Given the description of an element on the screen output the (x, y) to click on. 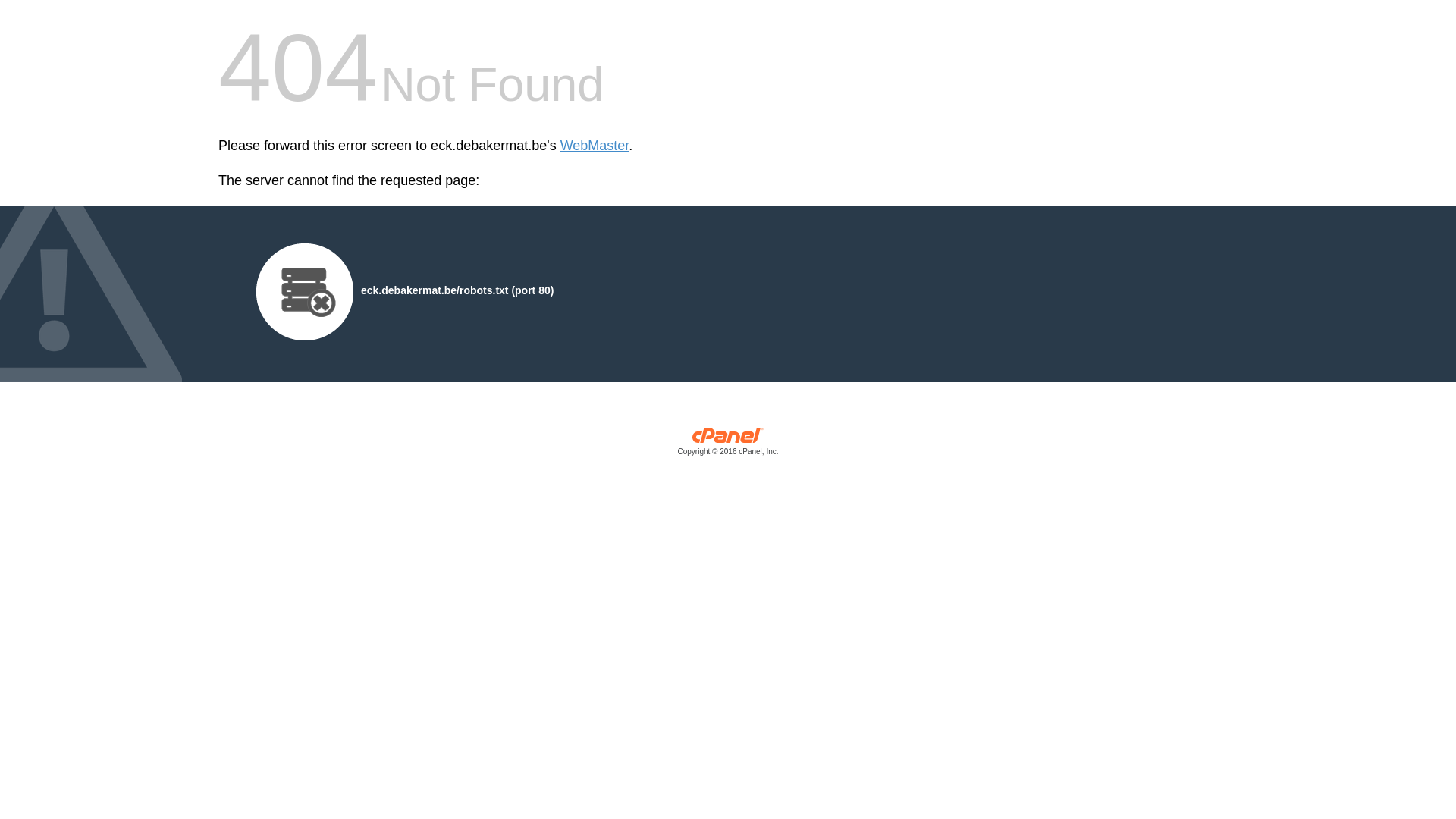
WebMaster Element type: text (594, 145)
